Given the description of an element on the screen output the (x, y) to click on. 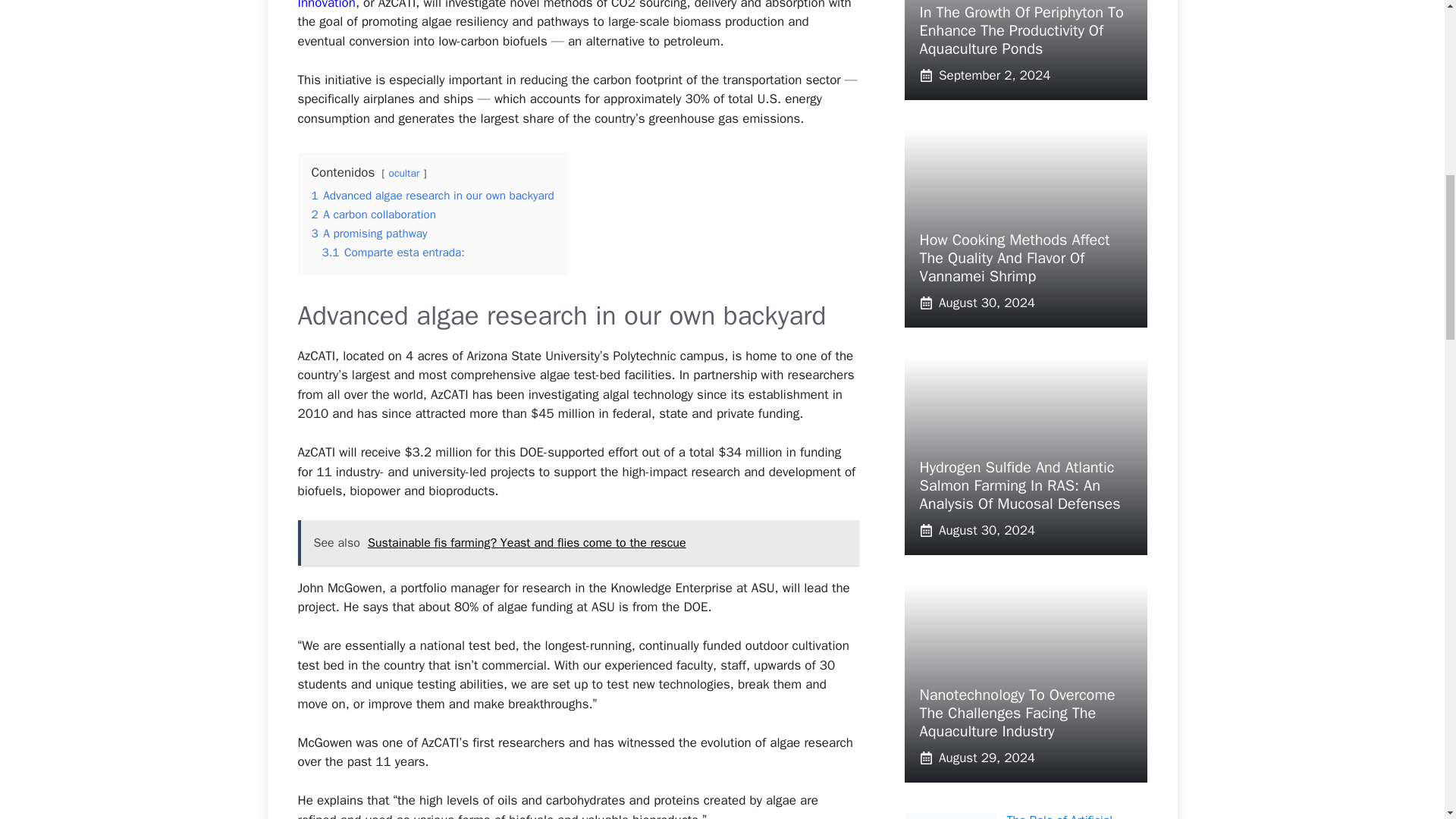
Arizona Center for Algae Technology and Innovation (565, 5)
3 A promising pathway (368, 233)
1 Advanced algae research in our own backyard (432, 195)
3.1 Comparte esta entrada: (392, 252)
ocultar (403, 173)
2 A carbon collaboration (373, 214)
Scroll back to top (1406, 720)
